Given the description of an element on the screen output the (x, y) to click on. 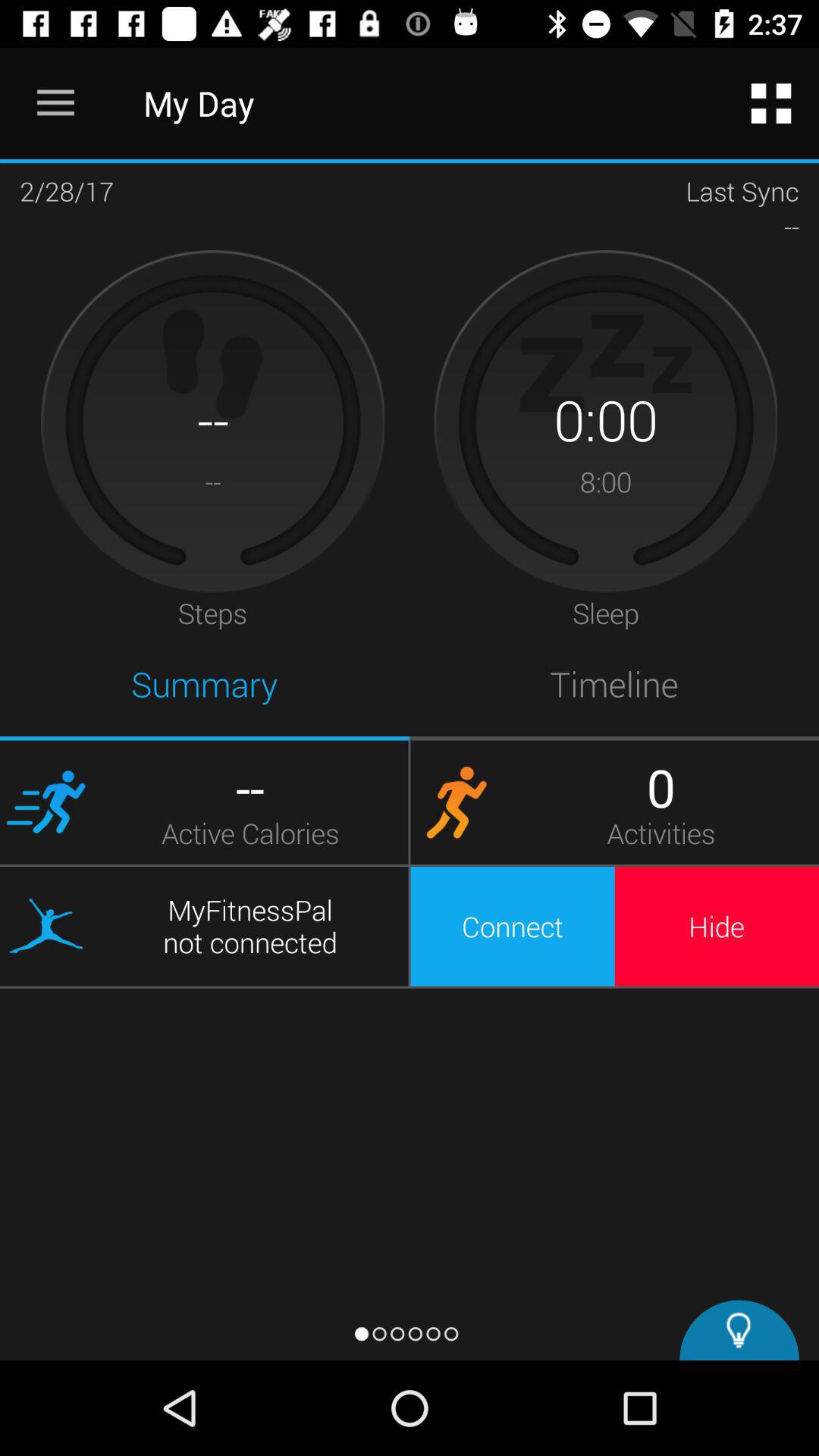
jump until the hide (716, 926)
